Given the description of an element on the screen output the (x, y) to click on. 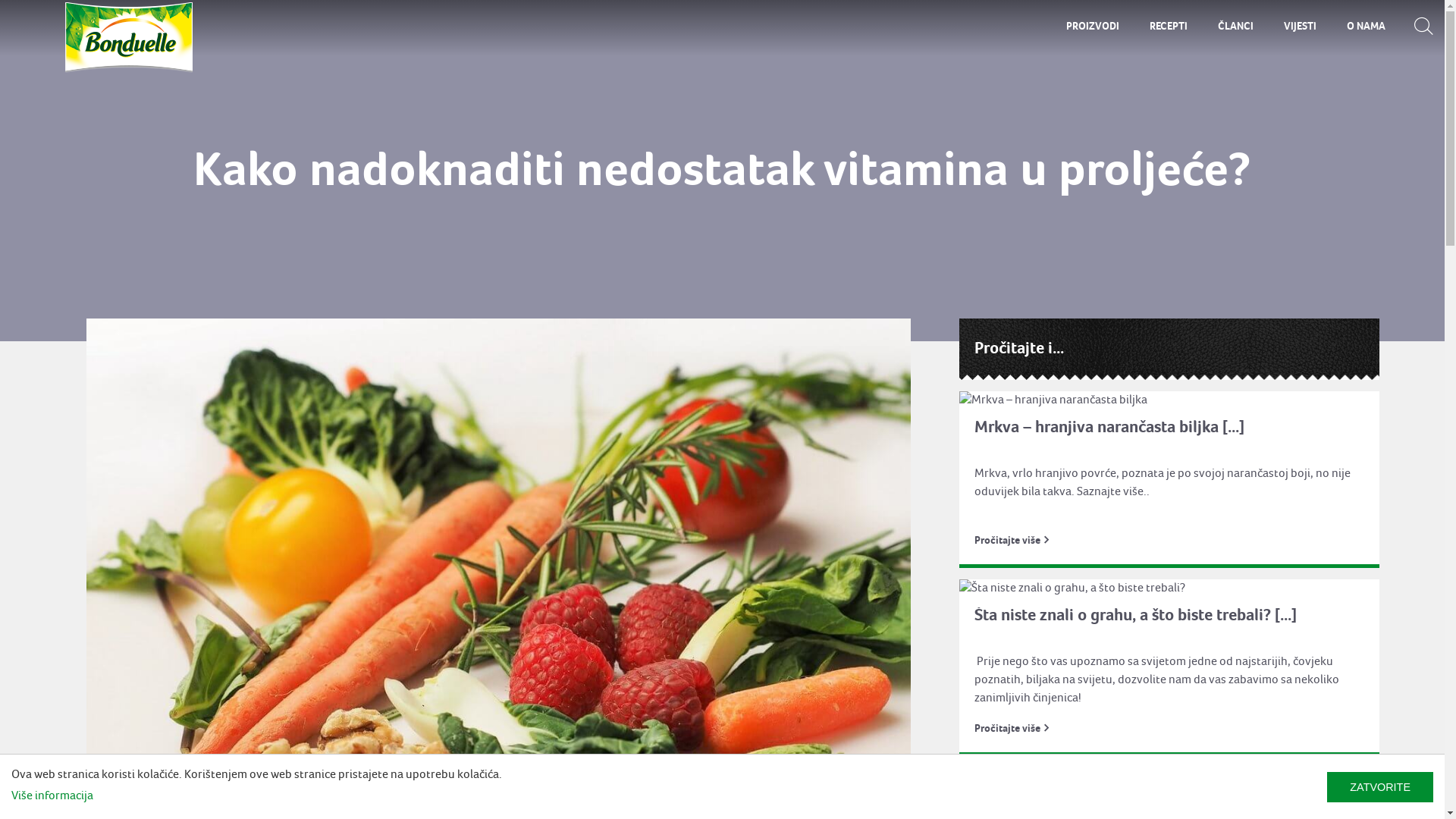
O NAMA Element type: text (1365, 26)
PROIZVODI Element type: text (1092, 26)
VIJESTI Element type: text (1299, 26)
RECEPTI Element type: text (1168, 26)
ZATVORITE Element type: text (1380, 786)
